Given the description of an element on the screen output the (x, y) to click on. 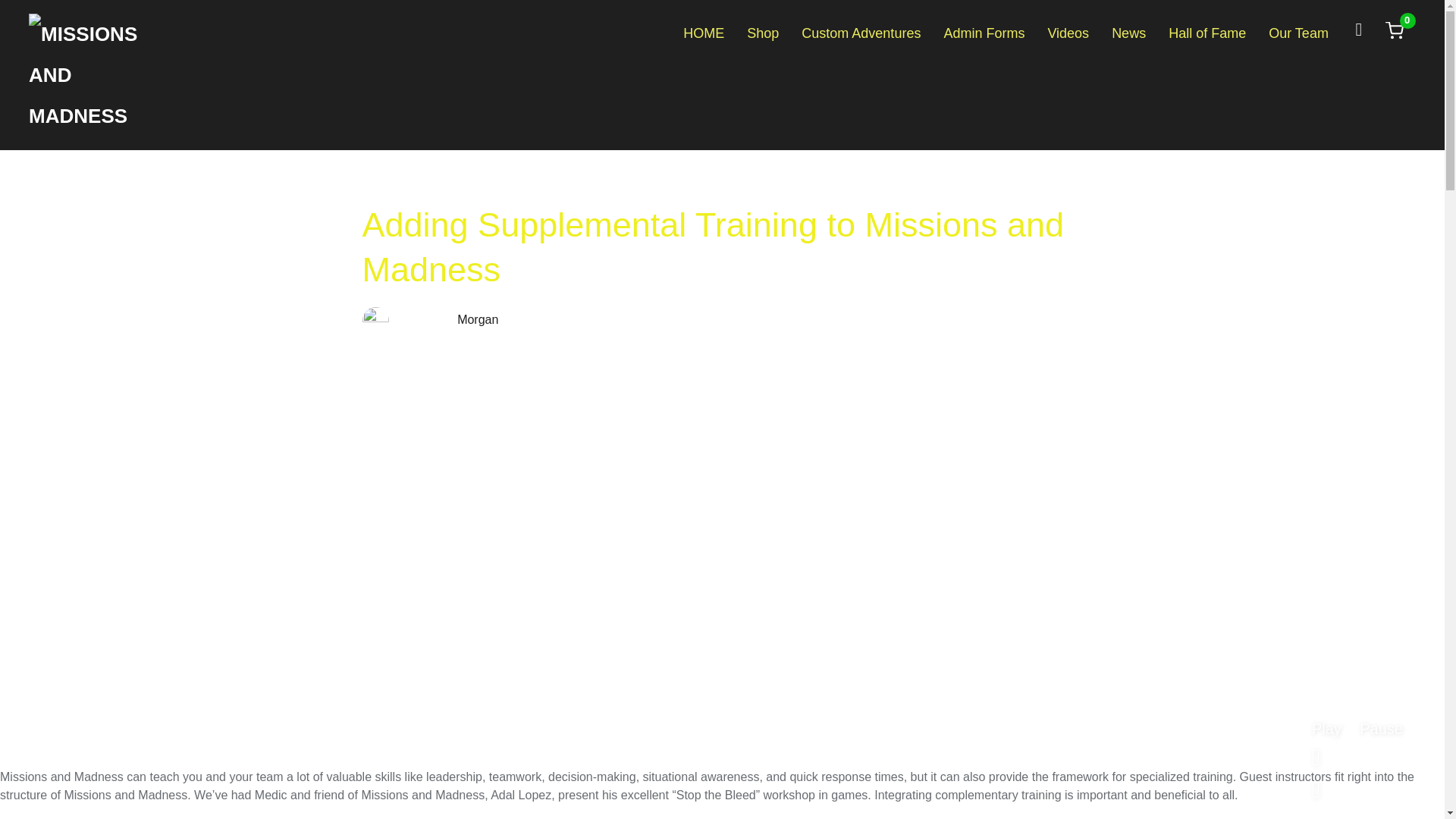
News (1128, 32)
View your shopping cart (1394, 29)
HOME (702, 32)
Unmute (1326, 758)
0 (1394, 29)
Play (1325, 728)
Custom Adventures (861, 32)
Posts by Morgan (477, 318)
Morgan (477, 318)
Pause (1381, 728)
Admin Forms (984, 32)
Search (15, 15)
Mute (1326, 790)
Shop (762, 32)
Videos (1067, 32)
